Given the description of an element on the screen output the (x, y) to click on. 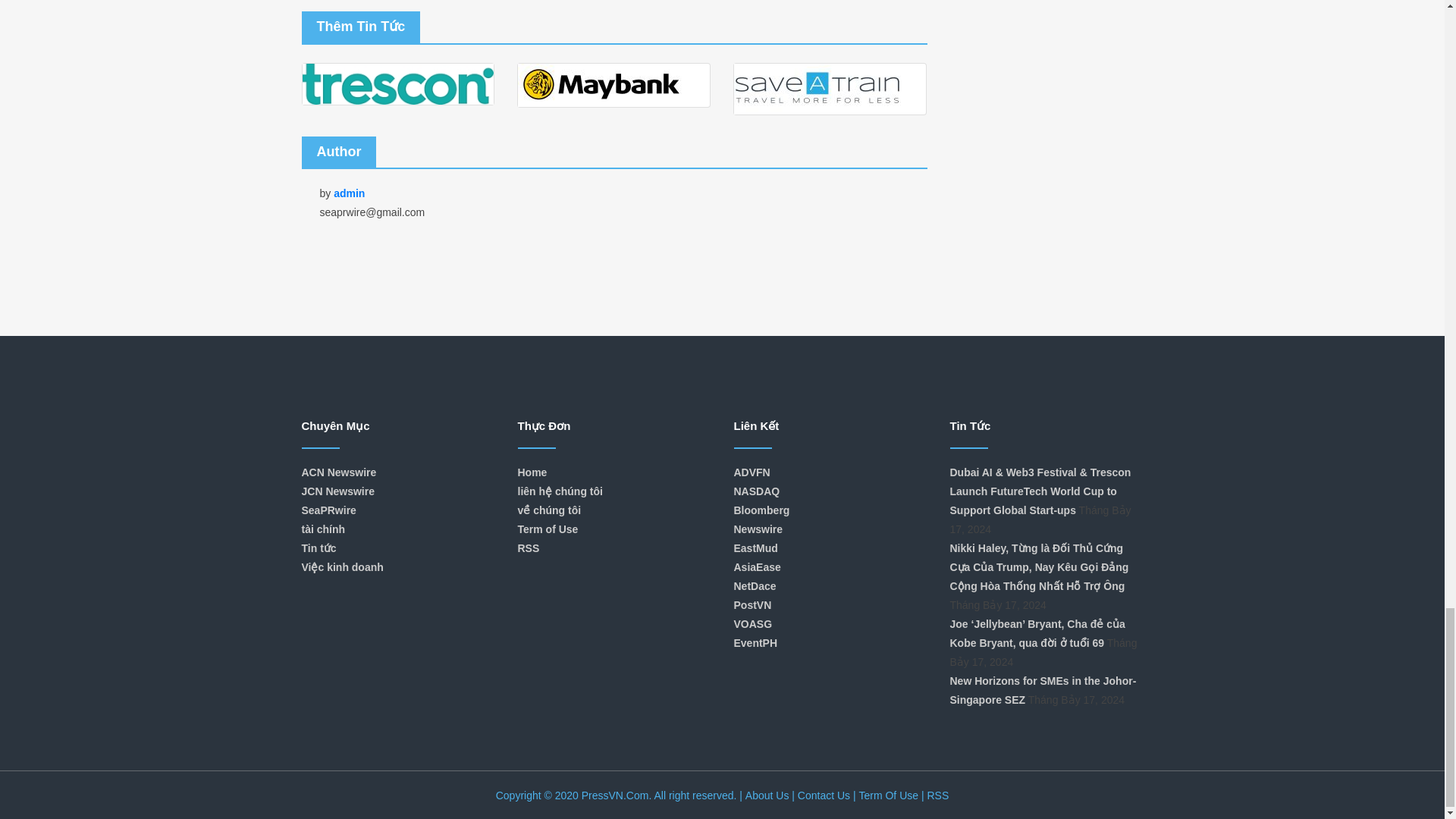
admin (350, 193)
